Given the description of an element on the screen output the (x, y) to click on. 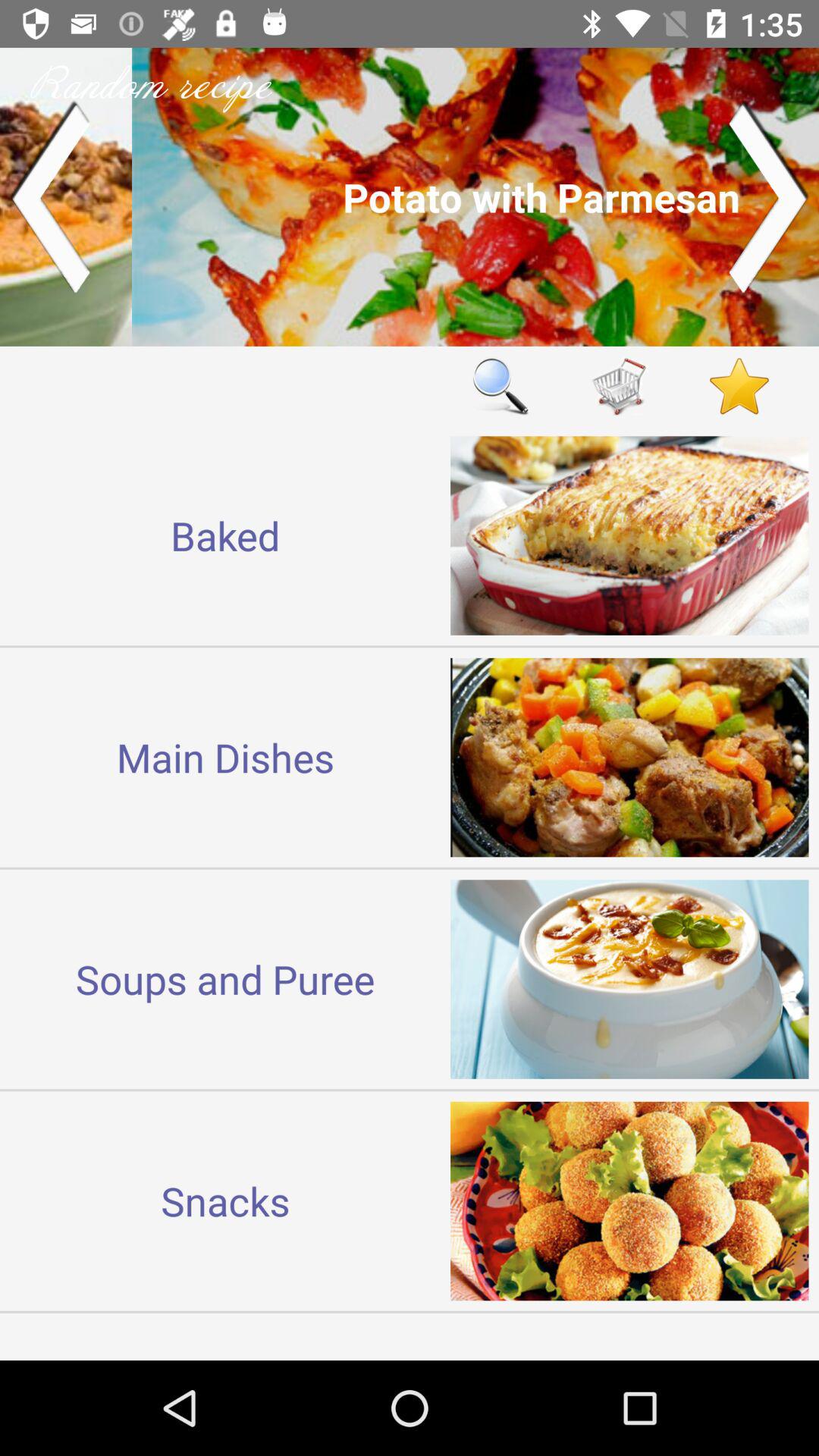
tap the snacks icon (225, 1200)
